Given the description of an element on the screen output the (x, y) to click on. 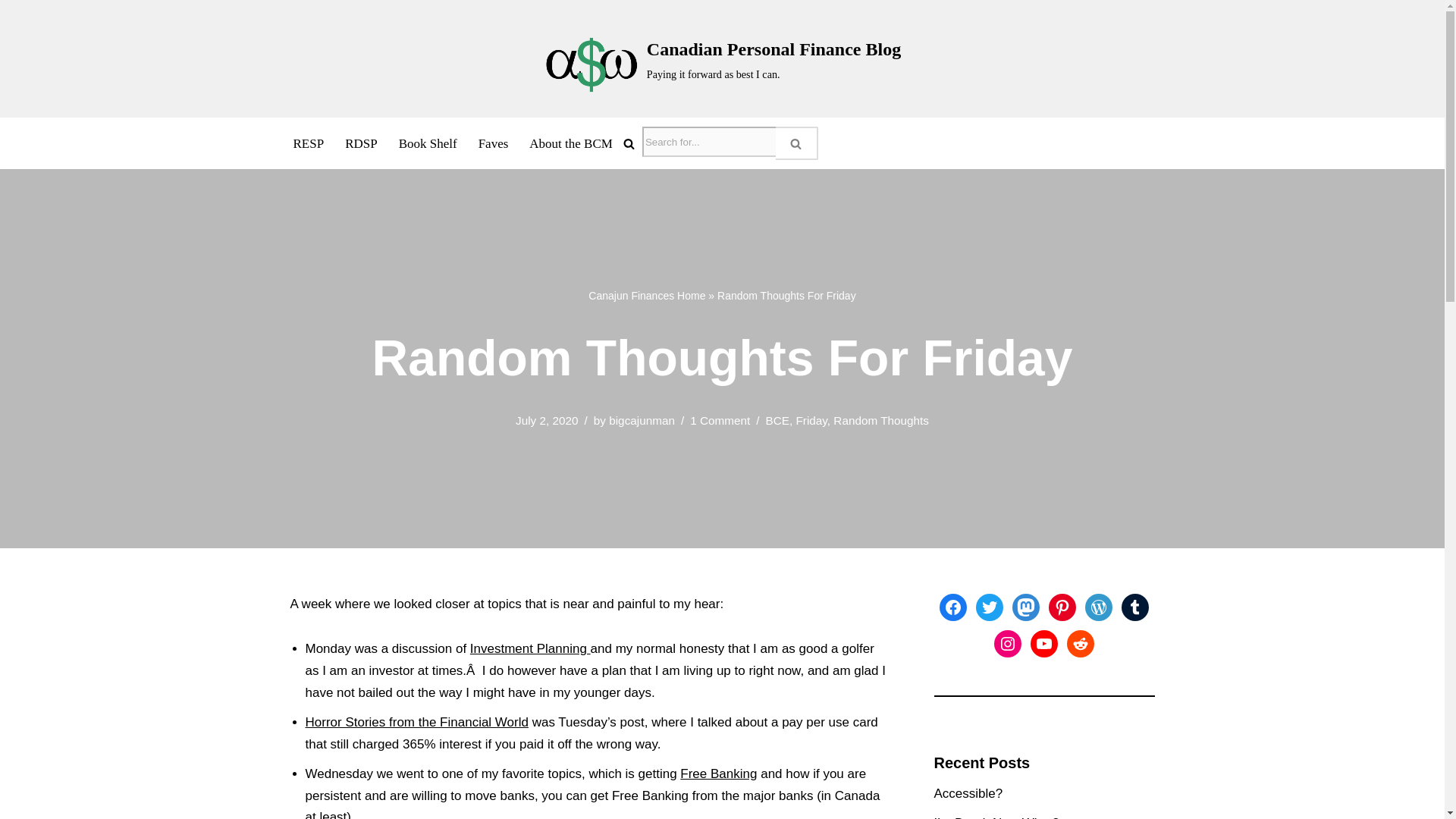
Skip to content (11, 31)
Home (690, 295)
RDSP (361, 142)
RESP (307, 142)
Horror Stories from the Financial World (415, 721)
Faves (493, 142)
Book Shelf (427, 142)
Friday (810, 420)
Free Banking (718, 773)
Random Thoughts (880, 420)
Investment Planning. (530, 648)
bigcajunman (641, 420)
RESP (307, 142)
Free Banking (718, 773)
